Given the description of an element on the screen output the (x, y) to click on. 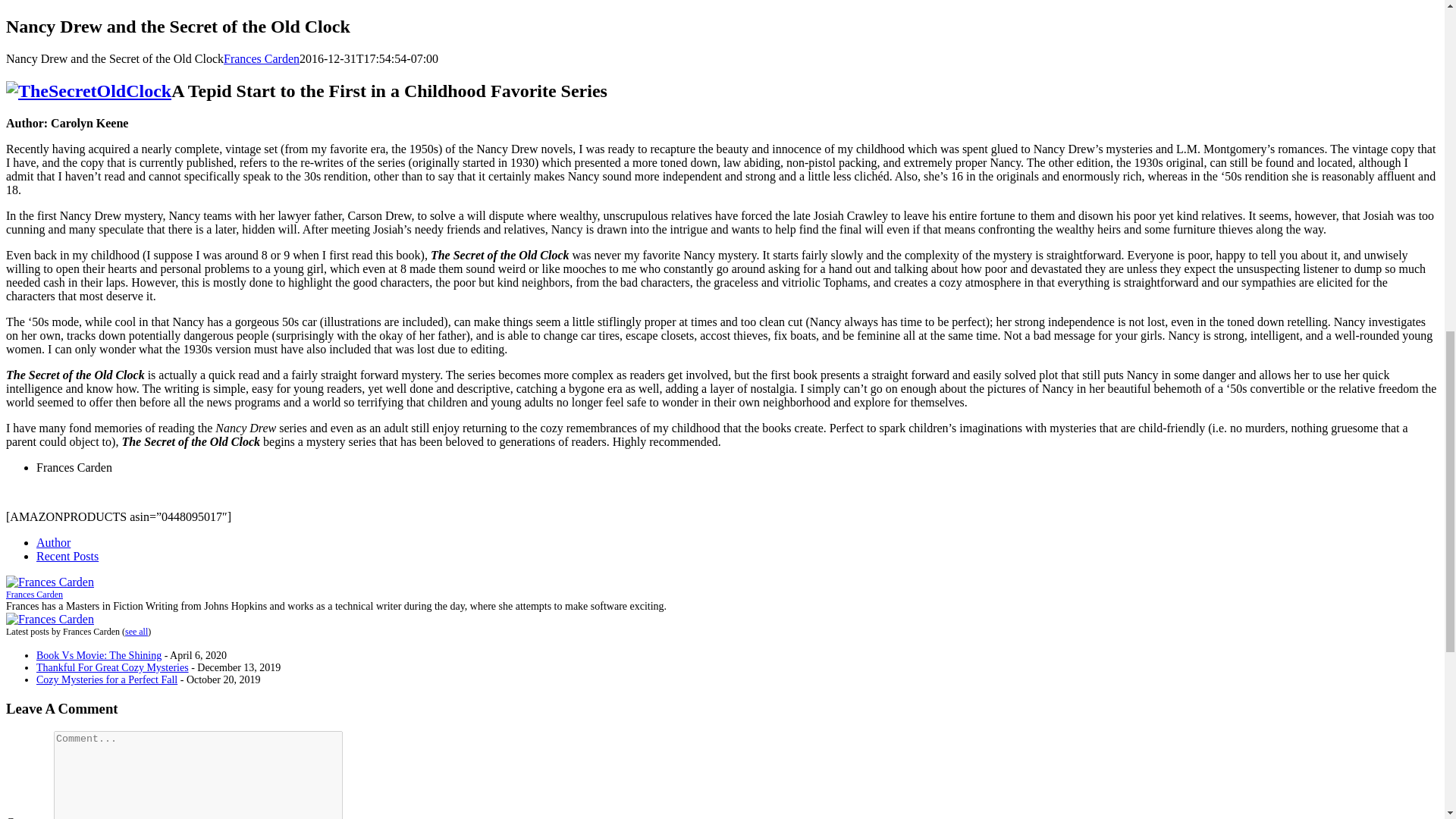
Posts by Frances Carden (261, 58)
Frances Carden (49, 581)
Frances Carden (49, 618)
